Given the description of an element on the screen output the (x, y) to click on. 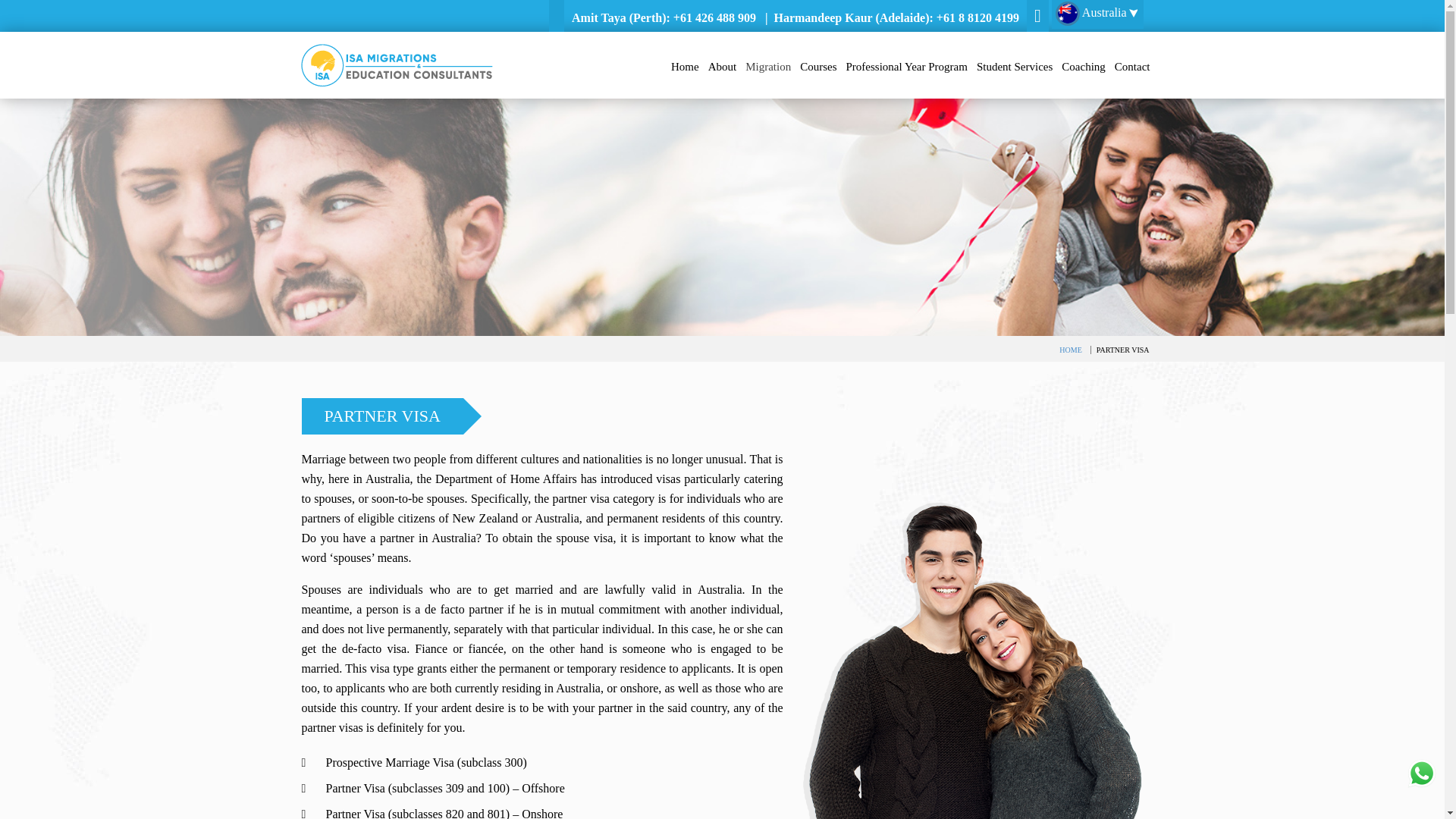
Responsive Slide Menus (395, 63)
Australia (1096, 14)
